Given the description of an element on the screen output the (x, y) to click on. 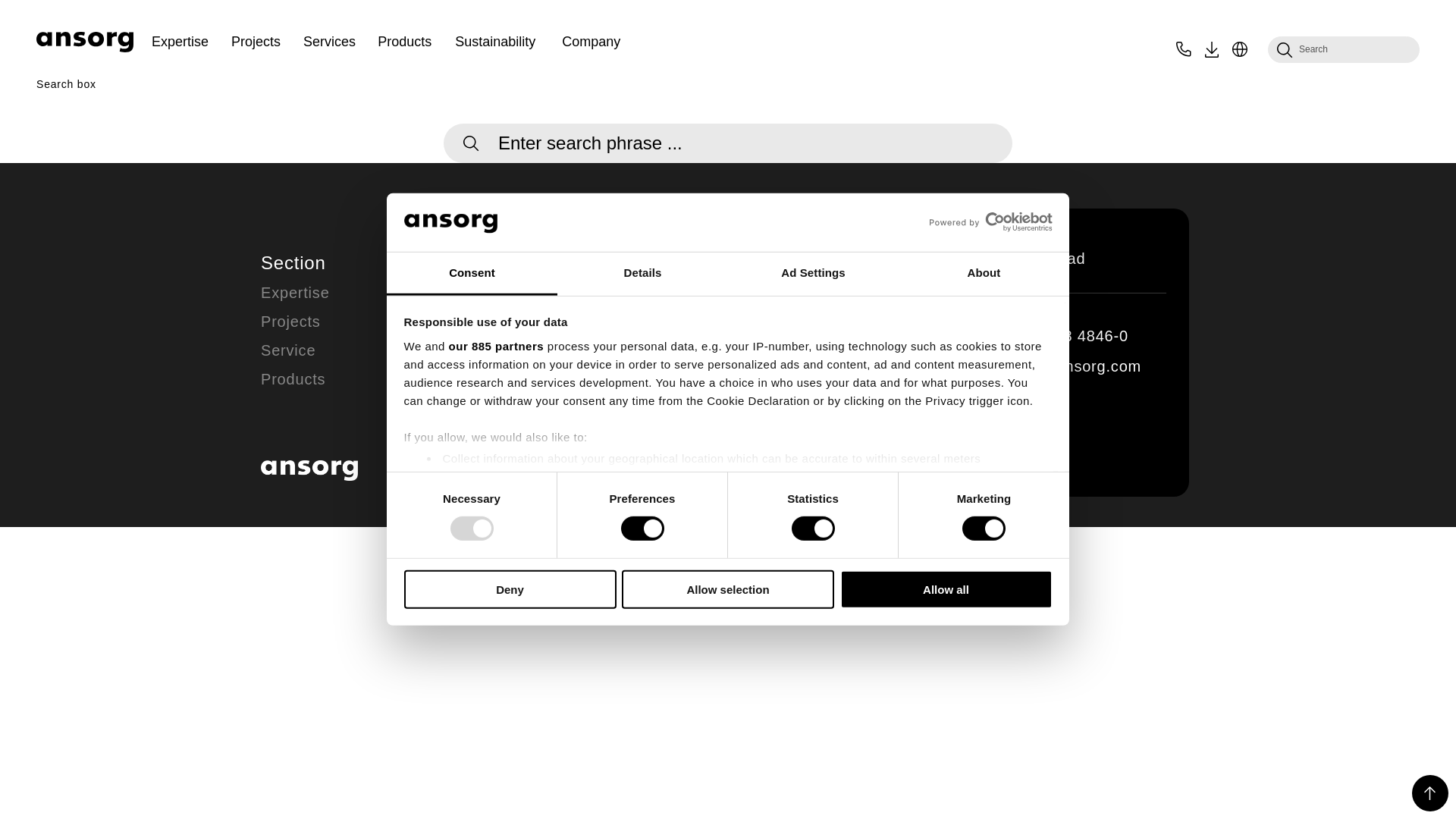
details section (932, 496)
Details (642, 273)
Ad Settings (813, 273)
About (983, 273)
Consent (472, 273)
our 885 partners (496, 345)
Search (1343, 49)
